Given the description of an element on the screen output the (x, y) to click on. 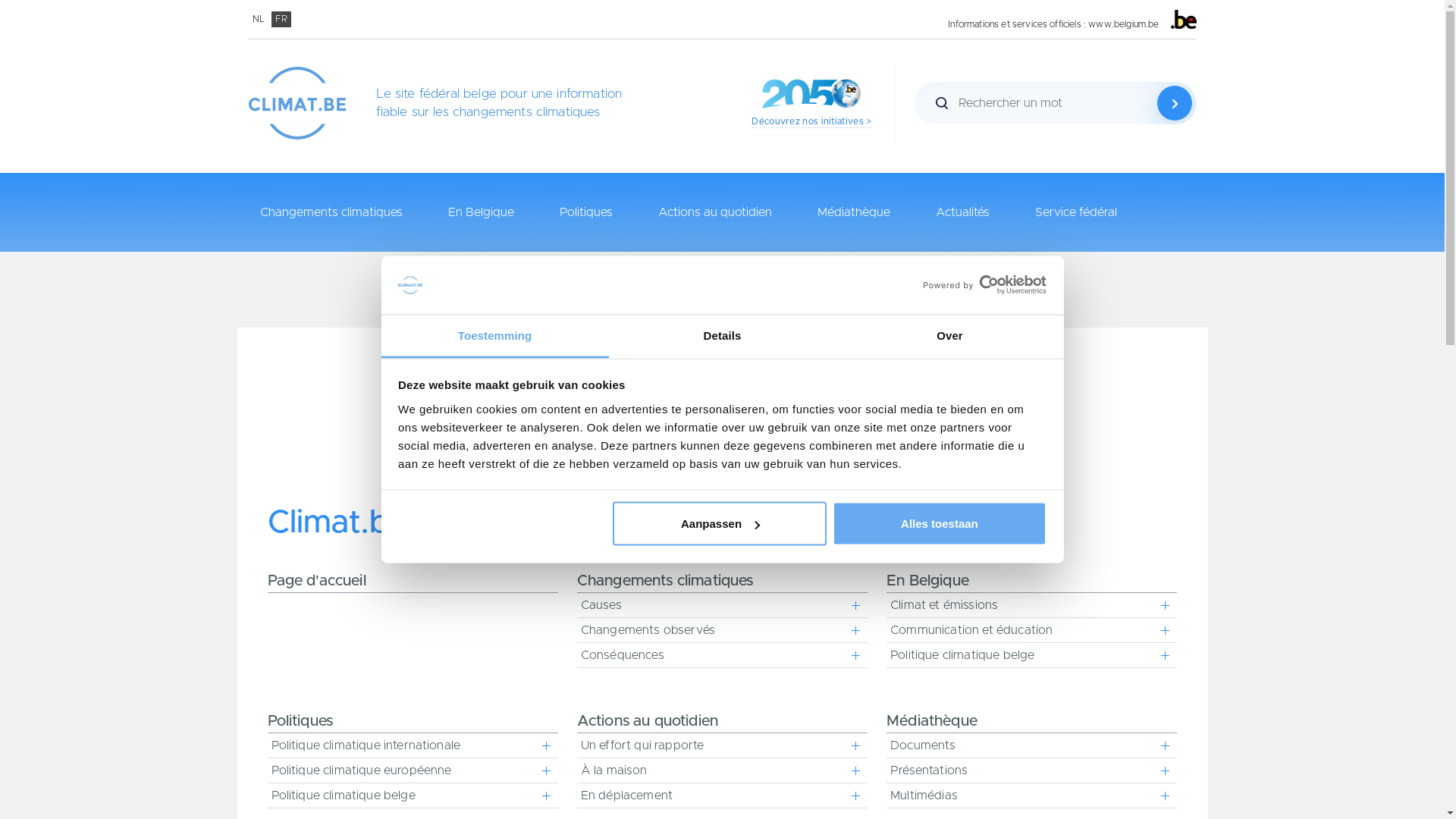
www.belgium.be Element type: text (1123, 23)
Search submit Element type: hover (1174, 102)
Search field Element type: hover (1072, 102)
Climate.be Element type: hover (296, 102)
Toestemming Element type: text (494, 335)
Politiques Element type: text (585, 212)
Actions au quotidien Element type: text (714, 212)
Over Element type: text (949, 335)
Page d'accueil Element type: text (411, 583)
NL Element type: text (258, 19)
Changements climatiques Element type: text (330, 212)
Climat 2050 Element type: hover (811, 93)
Alles toestaan Element type: text (939, 524)
En Belgique Element type: text (480, 212)
Details Element type: text (721, 335)
Aanpassen Element type: text (719, 524)
